Given the description of an element on the screen output the (x, y) to click on. 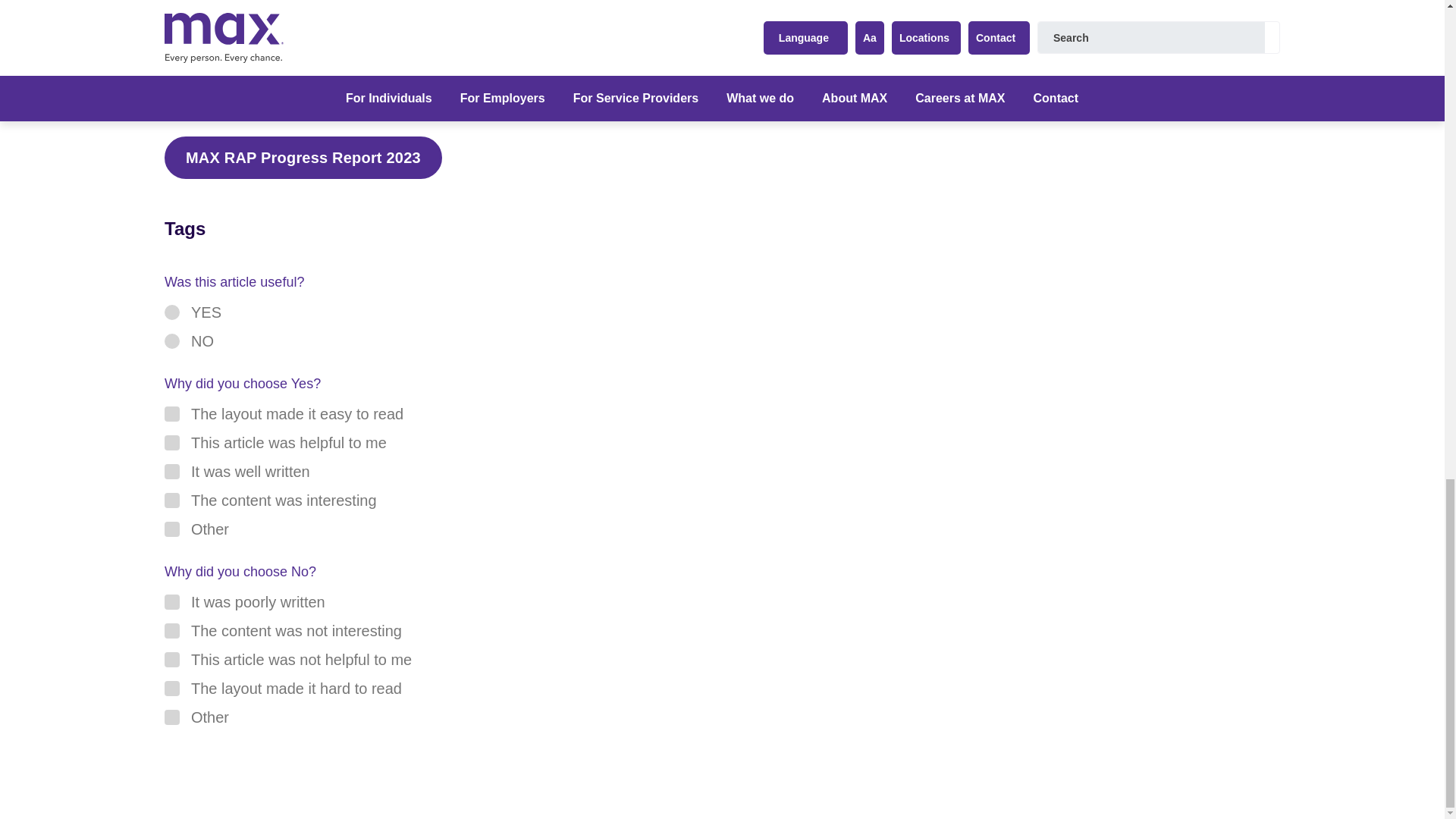
This article was not helpful to me (171, 659)
This article was helpful to me (171, 442)
Other (171, 529)
It was poorly written (171, 601)
It was well written (171, 471)
yes (171, 312)
The layout made it easy to read (171, 413)
The content was interesting (171, 500)
Other (171, 717)
The layout made it hard to read (171, 688)
